Given the description of an element on the screen output the (x, y) to click on. 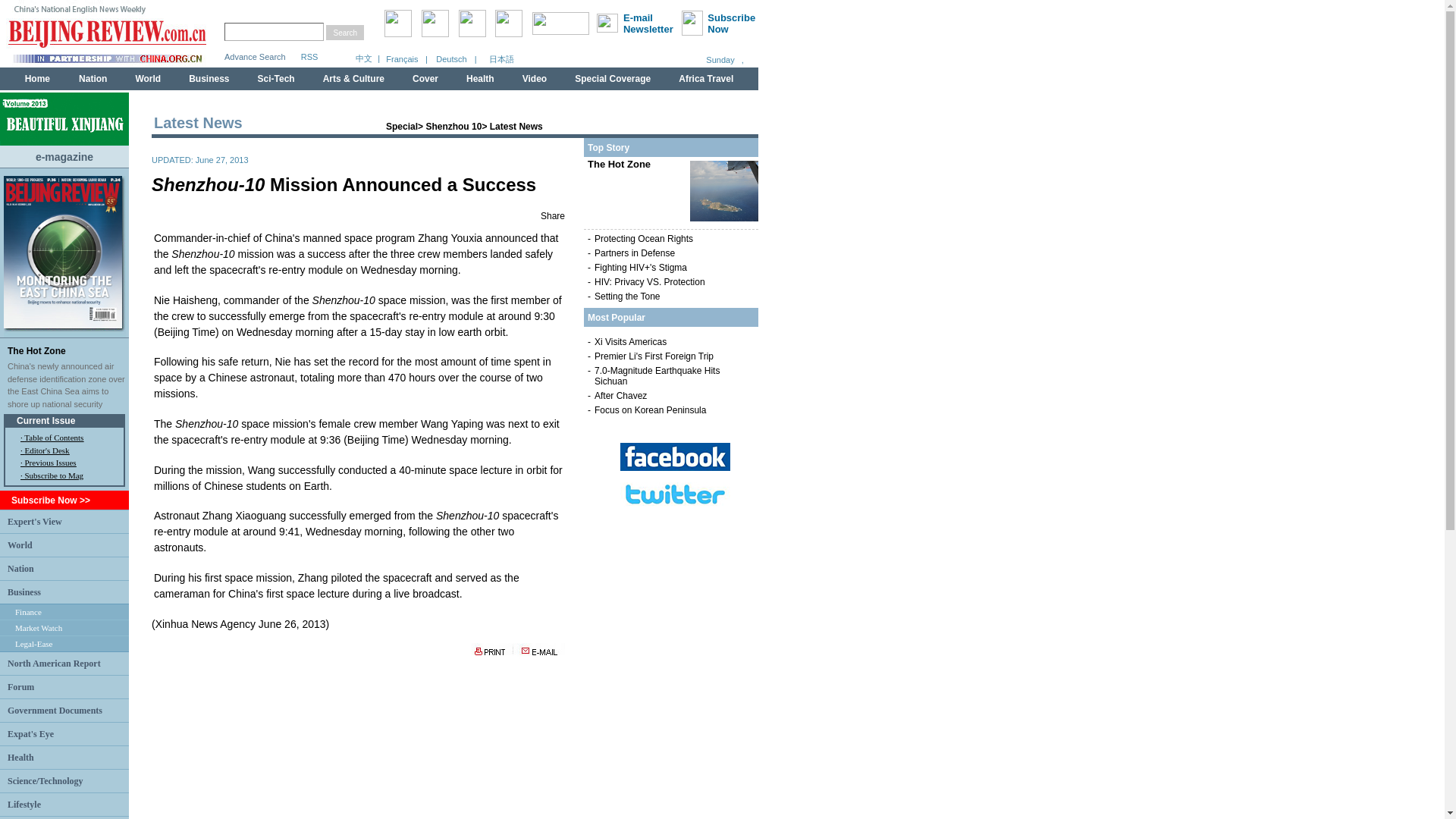
Previous Issues (49, 461)
Table of Contents (53, 437)
World (19, 544)
Expert's View (34, 520)
Nation (20, 567)
e-magazine (63, 155)
Forum (20, 685)
Legal-Ease (33, 643)
Lifestyle (23, 804)
Health (20, 757)
Market Watch (38, 627)
The Hot Zone (36, 350)
Expat's Eye (30, 733)
Business (23, 592)
